Given the description of an element on the screen output the (x, y) to click on. 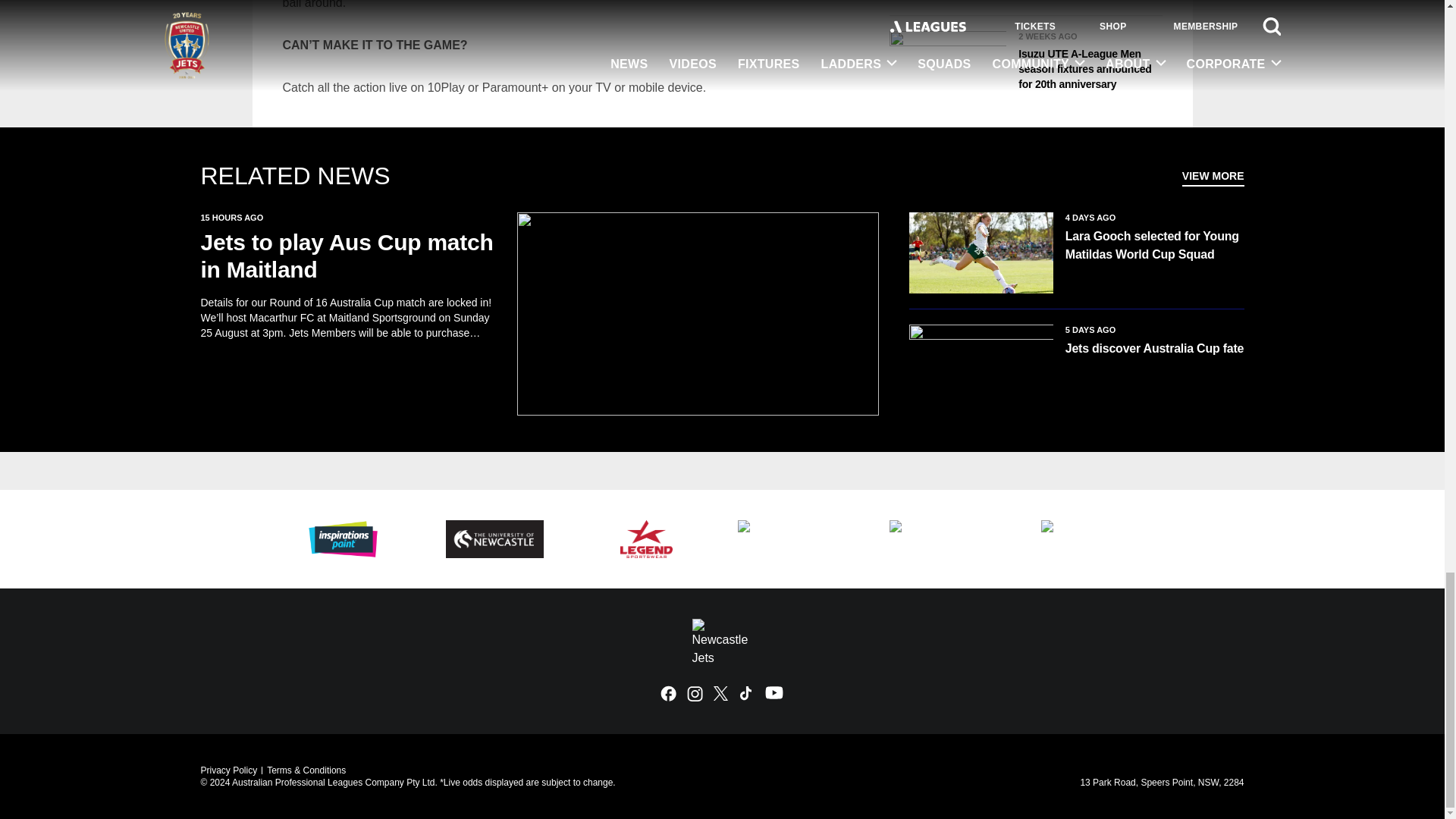
Greater Bank (949, 538)
Port of Newcastle (1101, 538)
Inspirations Paint (342, 538)
AMP Control (797, 538)
University of Newcastle (493, 538)
Legend (645, 538)
